Given the description of an element on the screen output the (x, y) to click on. 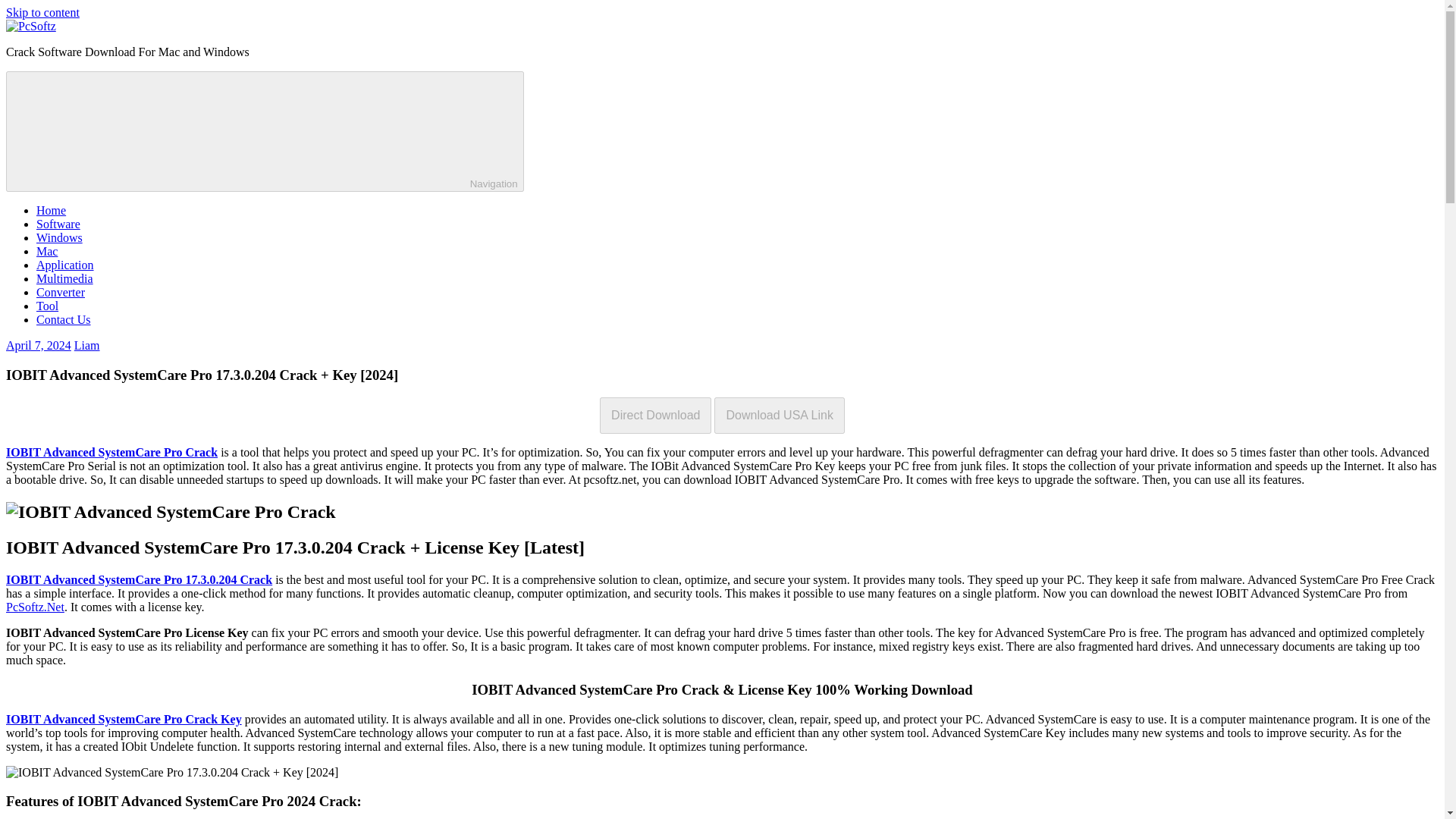
Multimedia (64, 278)
Converter (60, 291)
Tool (47, 305)
Contact Us (63, 318)
Skip to content (42, 11)
IOBIT Advanced SystemCare Pro Crack Key (123, 718)
7:45 am (38, 345)
PcSoftz (24, 51)
Application (65, 264)
Direct Download (655, 415)
